Given the description of an element on the screen output the (x, y) to click on. 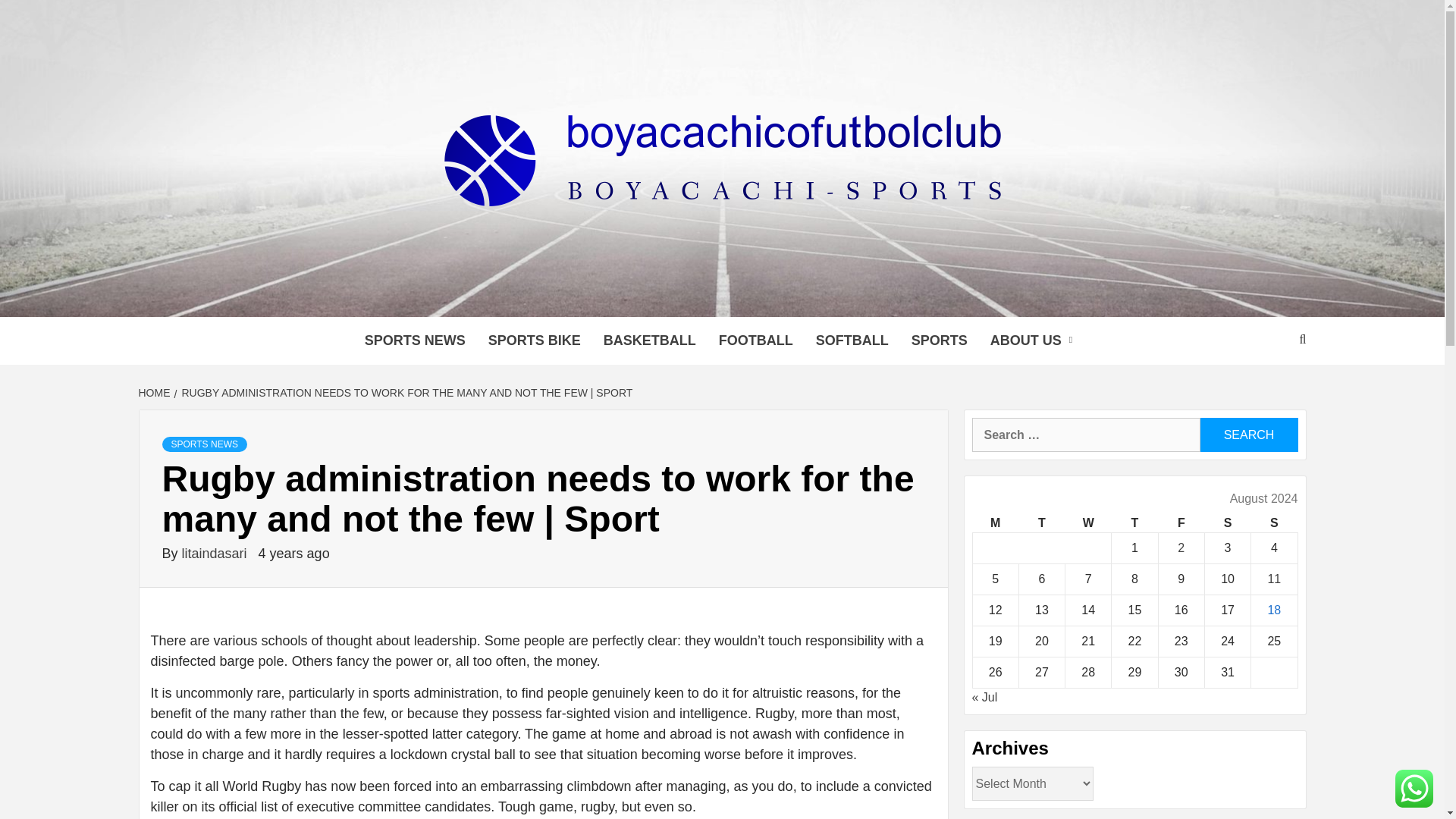
Sunday (1273, 523)
litaindasari (216, 553)
11 (1273, 578)
HOME (155, 392)
SPORTS NEWS (415, 340)
SPORTS NEWS (204, 444)
SPORTS (938, 340)
BOYACACHICOFUTBOLCLUB (684, 297)
Thursday (1134, 523)
Search (1248, 434)
